Given the description of an element on the screen output the (x, y) to click on. 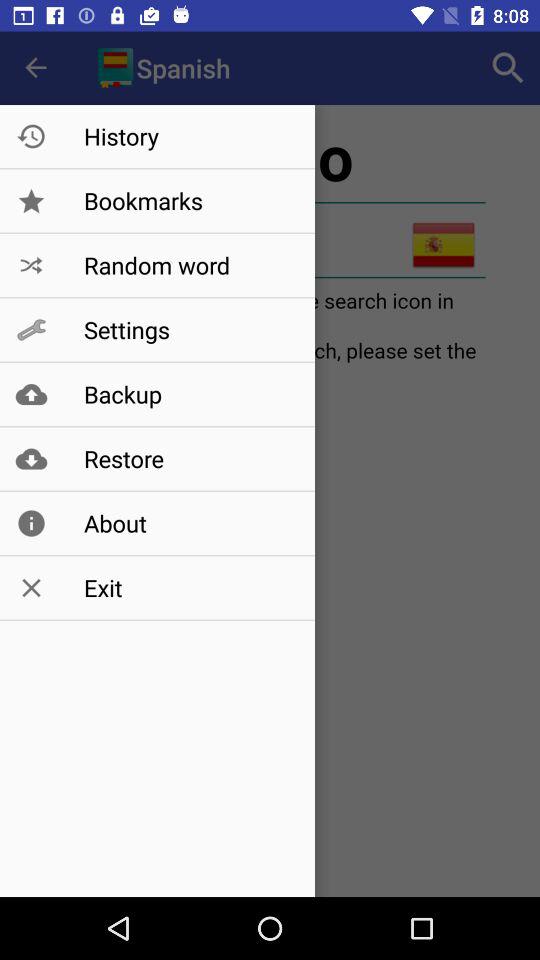
click history (188, 136)
